Given the description of an element on the screen output the (x, y) to click on. 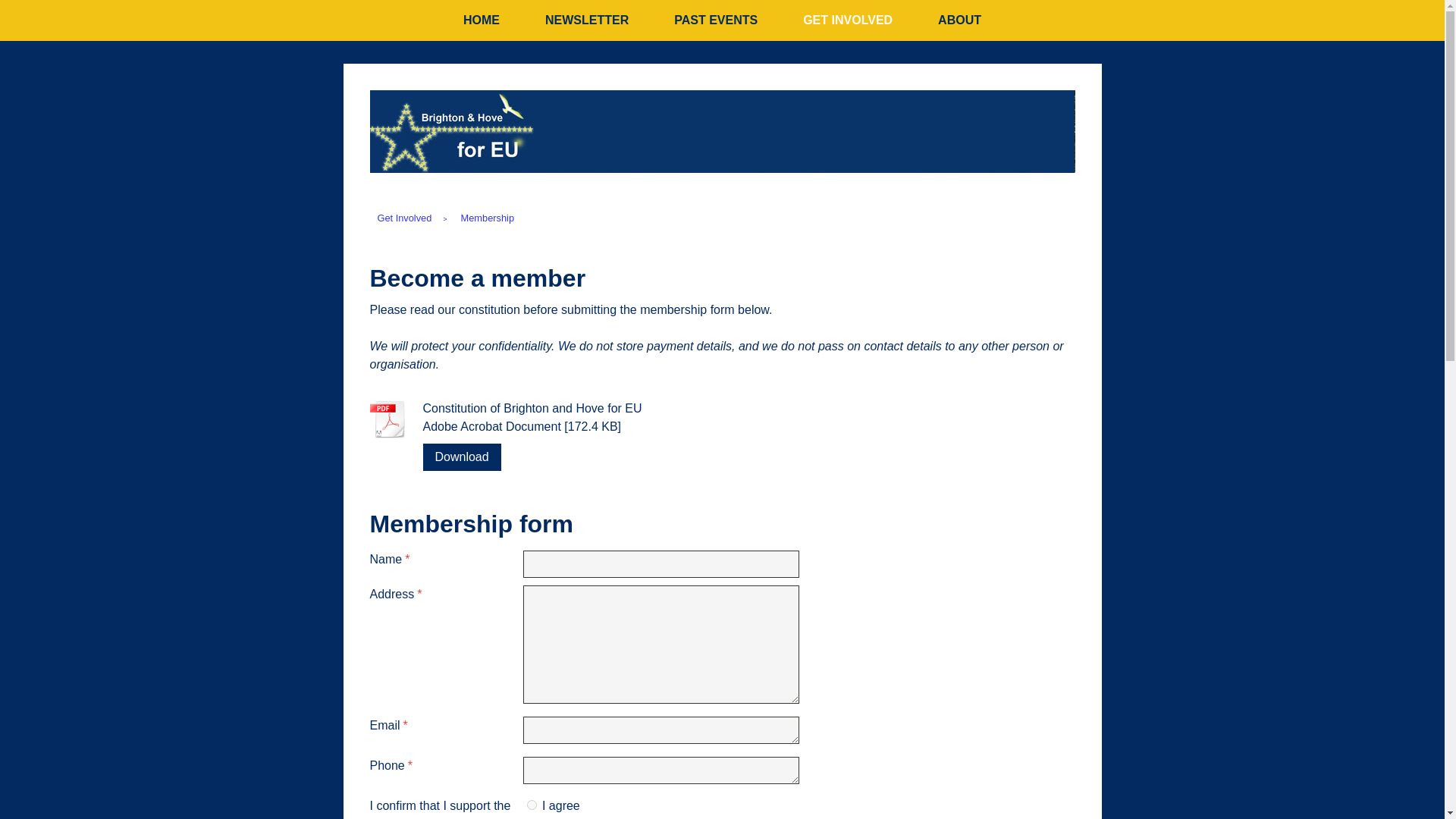
Membership (487, 217)
GET INVOLVED (847, 20)
ABOUT (959, 20)
Get Involved (406, 217)
NEWSLETTER (586, 20)
I agree (530, 804)
PAST EVENTS (715, 20)
Download (461, 456)
HOME (481, 20)
